Given the description of an element on the screen output the (x, y) to click on. 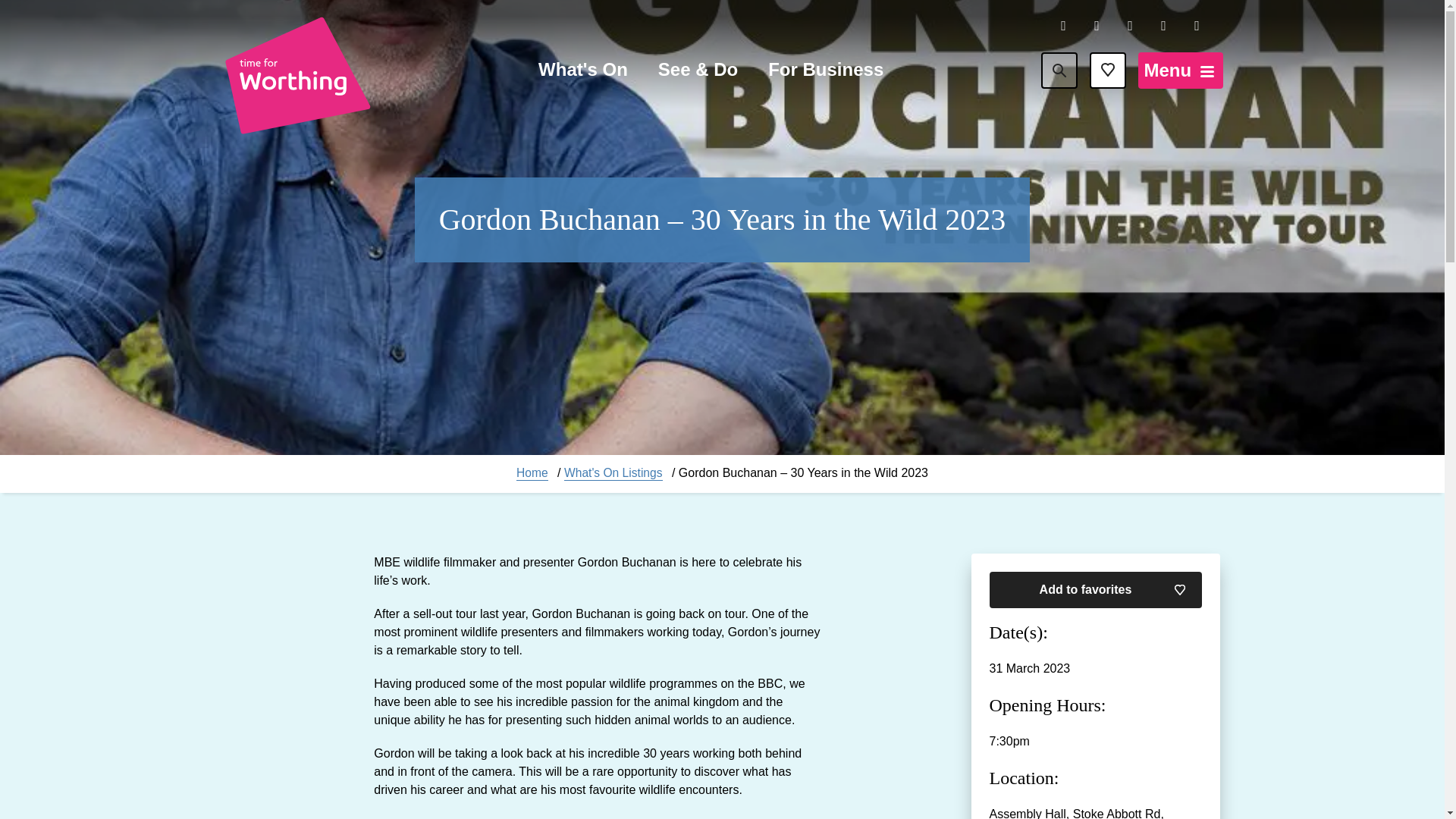
Follow us on Twitter (1129, 25)
Subscribe on YouTube (1196, 25)
Favourites (1107, 70)
Add to favorites (1094, 589)
Instagram (1096, 25)
Facebook (1063, 25)
For Business (825, 70)
What's On (582, 70)
Find us on LinkedIn (1163, 25)
Menu (1180, 70)
